Given the description of an element on the screen output the (x, y) to click on. 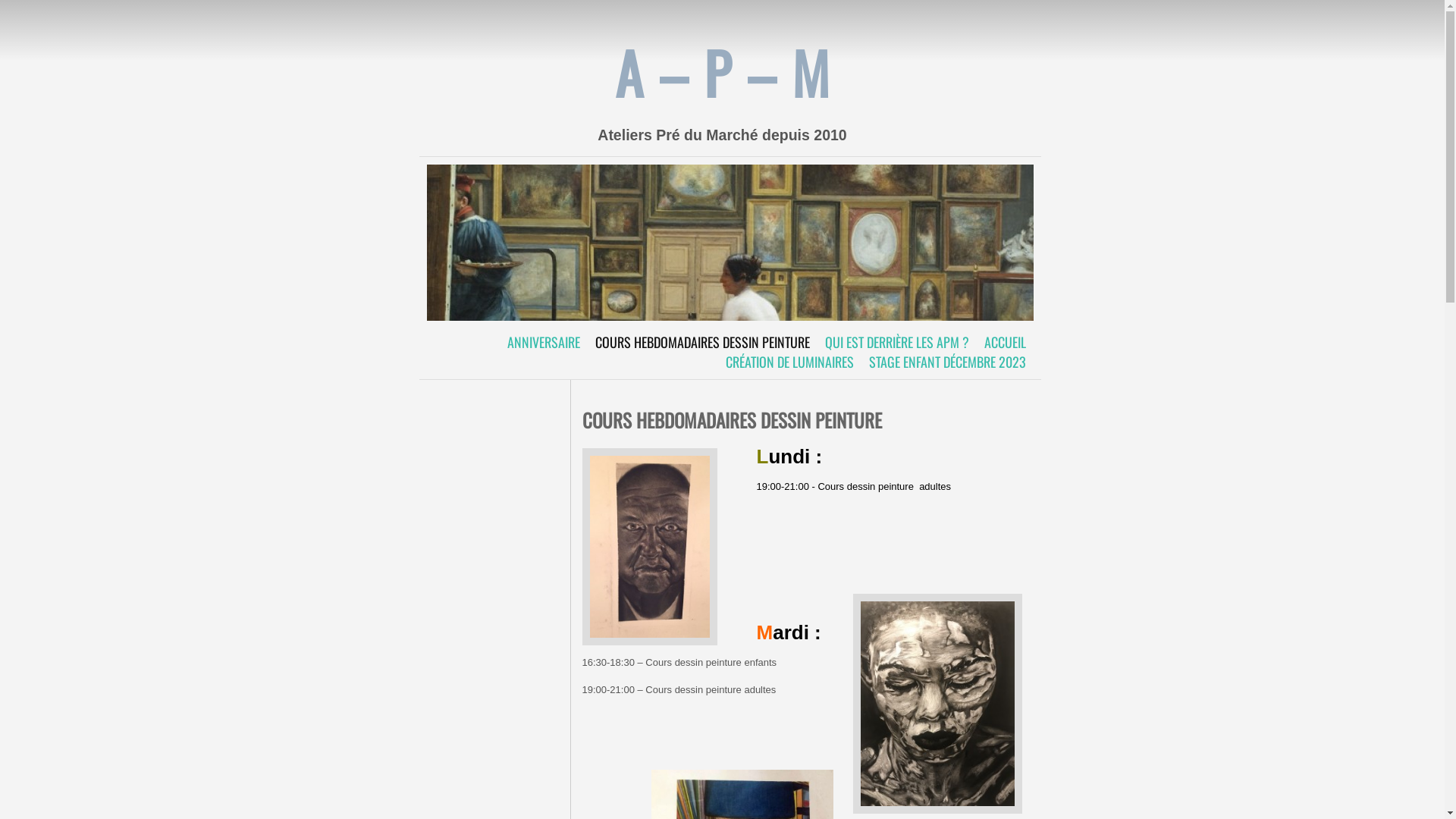
ACCUEIL Element type: text (1005, 341)
COURS HEBDOMADAIRES DESSIN PEINTURE Element type: text (701, 341)
ANNIVERSAIRE Element type: text (542, 341)
